Given the description of an element on the screen output the (x, y) to click on. 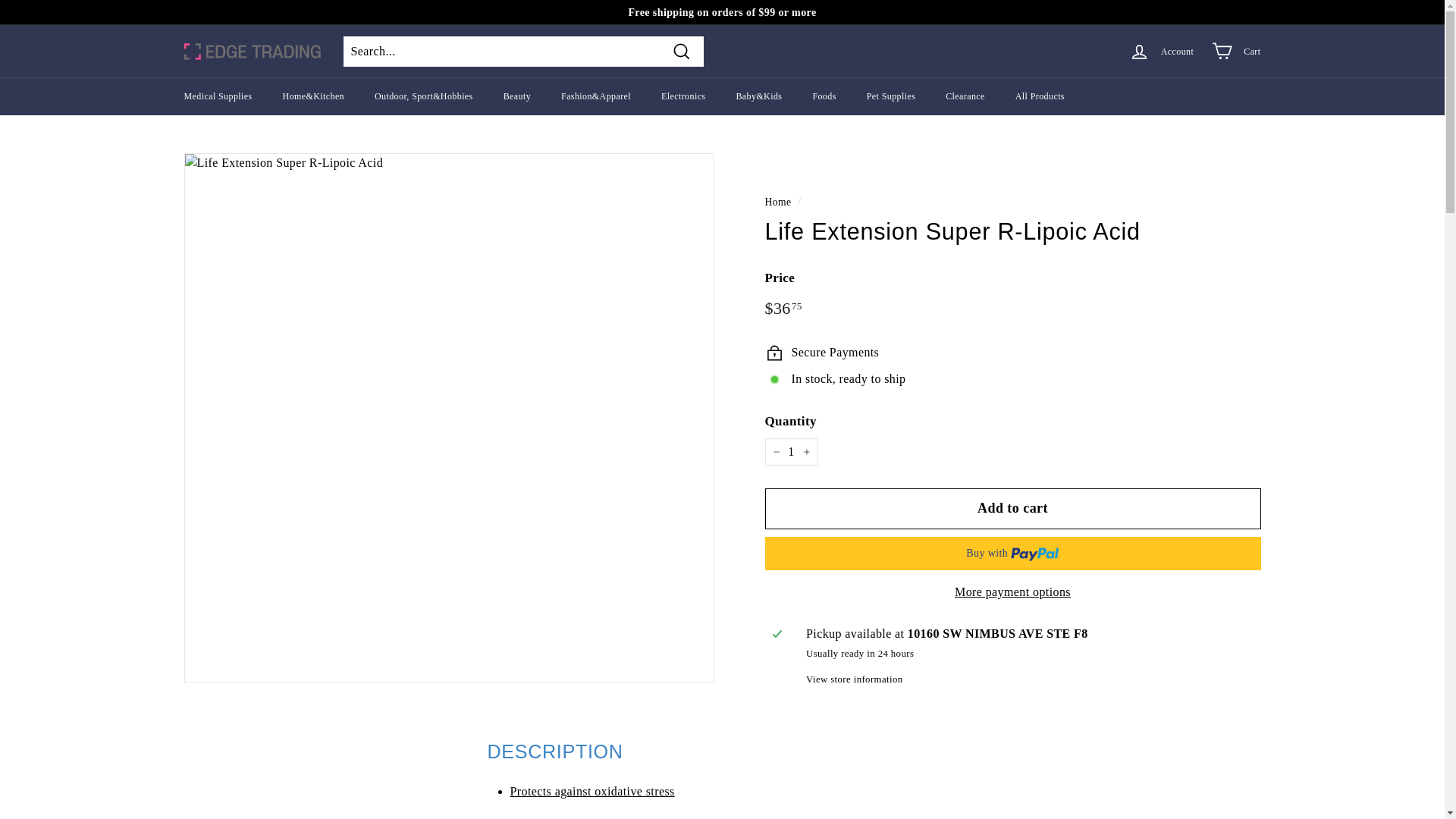
Electronics (683, 95)
Back to the frontpage (777, 202)
Beauty (516, 95)
1 (790, 452)
Foods (823, 95)
Medical Supplies (217, 95)
Account (1160, 50)
